Given the description of an element on the screen output the (x, y) to click on. 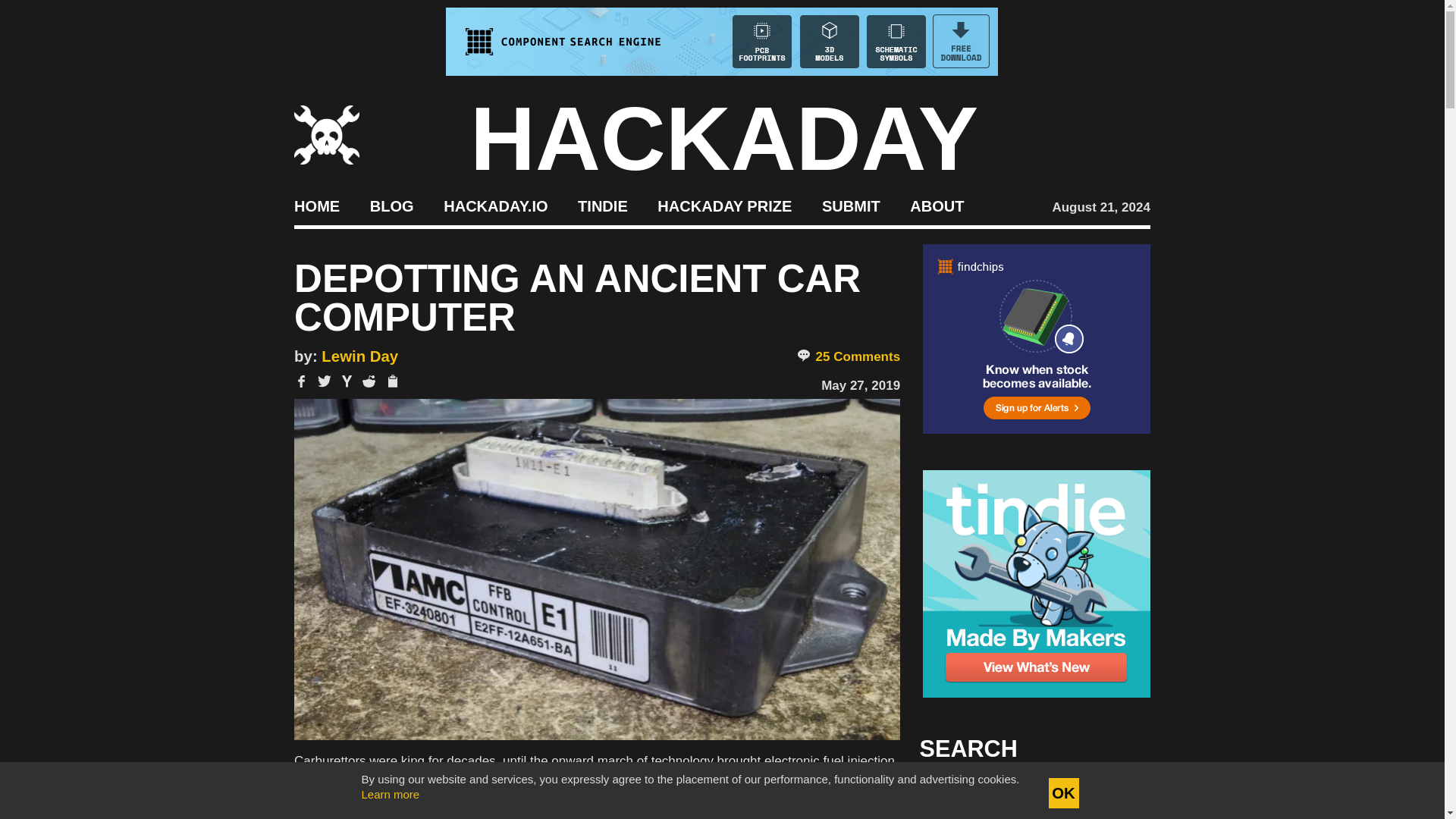
Build Something that Matters (725, 205)
and decided to see what made it tick. (596, 813)
May 27, 2019 - 1:00 pm (860, 385)
HOME (316, 205)
TINDIE (602, 205)
Lewin Day (359, 356)
Search (1115, 792)
Share on Twitter (324, 381)
HACKADAY PRIZE (725, 205)
Share on Facebook (301, 381)
